Given the description of an element on the screen output the (x, y) to click on. 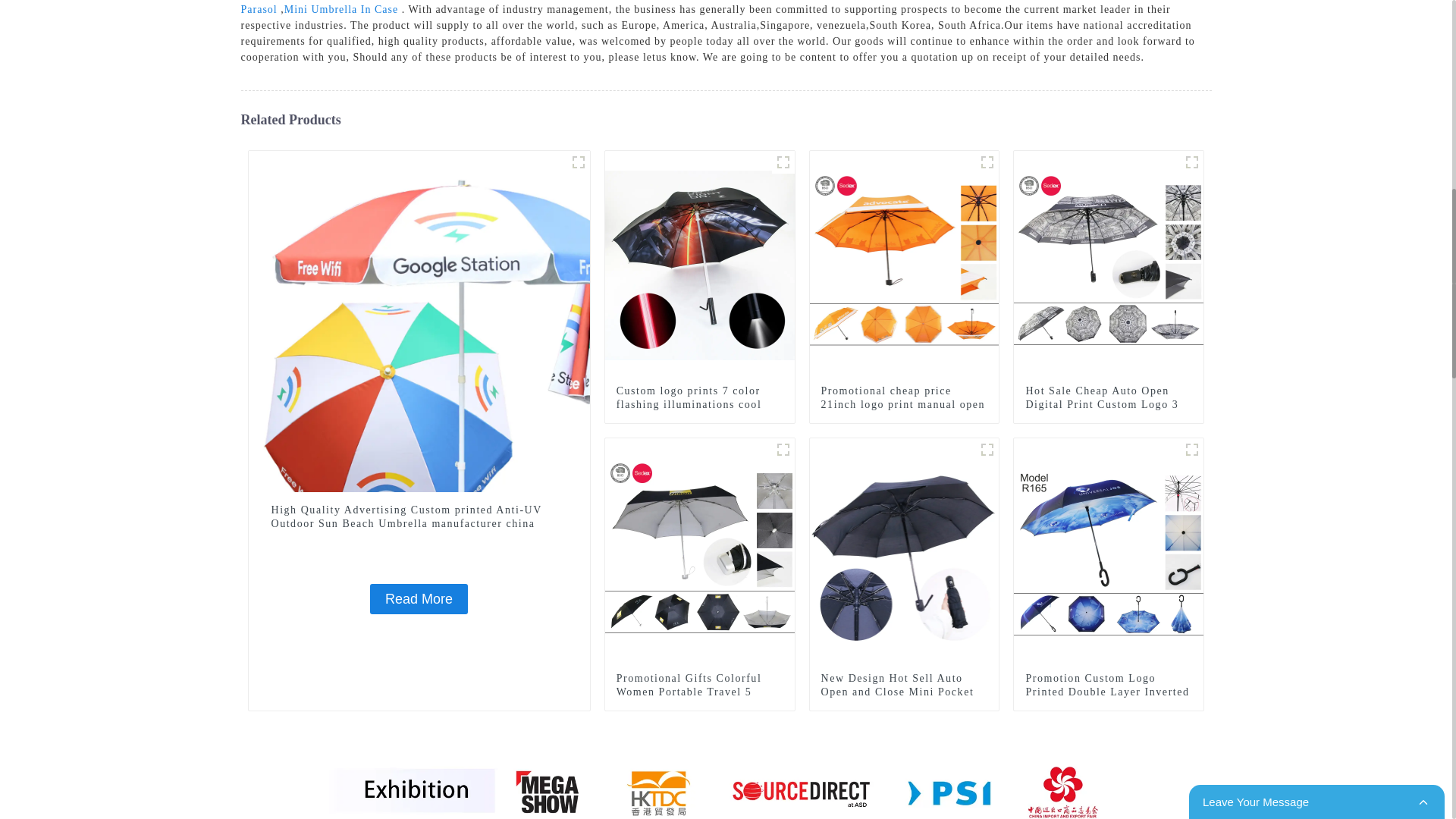
F502 S (782, 449)
Mini Umbrella In Case (340, 9)
Commercial Parasol (706, 7)
